Given the description of an element on the screen output the (x, y) to click on. 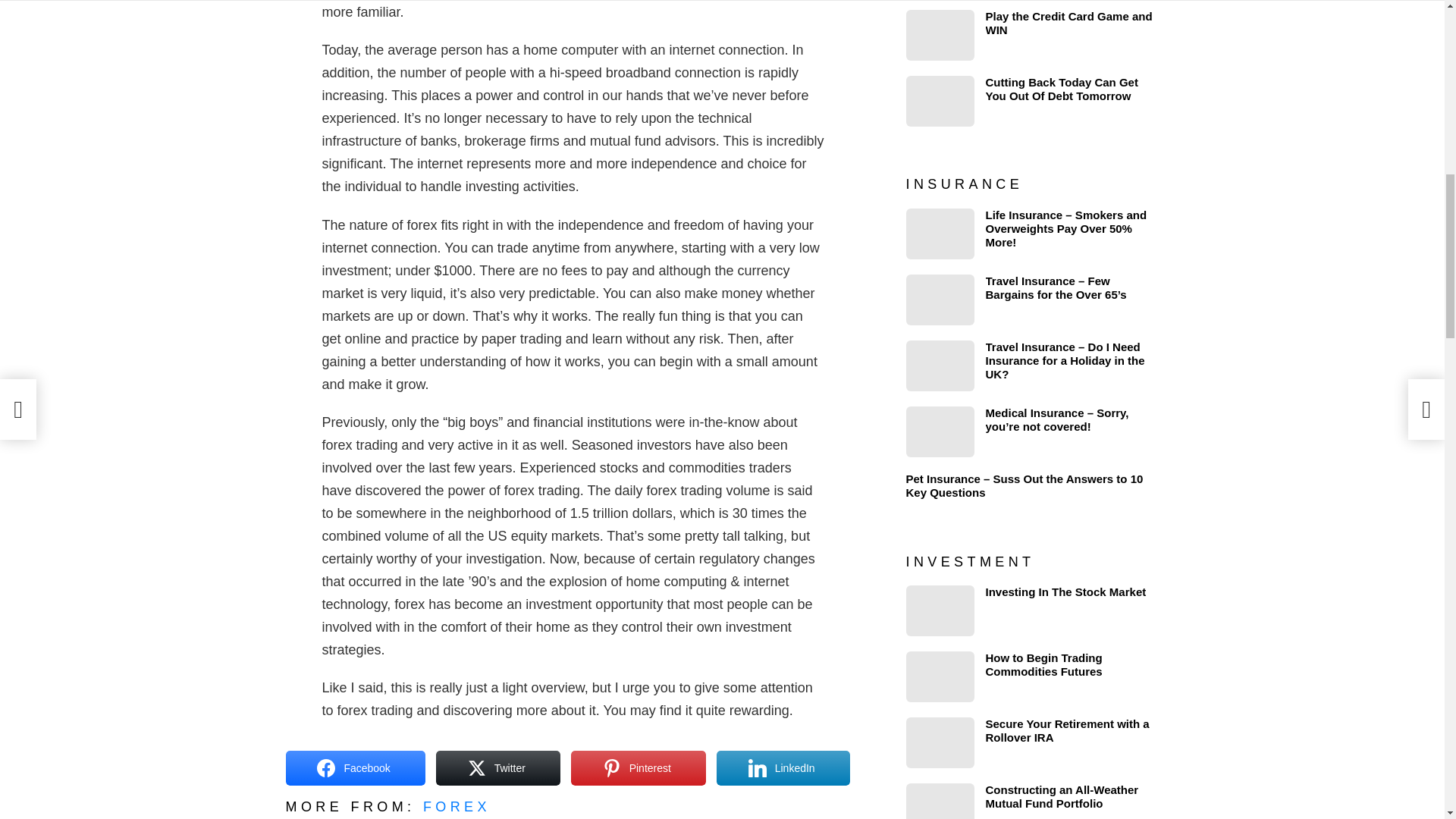
LinkedIn (783, 768)
Share on LinkedIn (783, 768)
Pinterest (638, 768)
Share on Twitter (497, 768)
Share on Pinterest (638, 768)
Facebook (355, 768)
FOREX (456, 806)
Twitter (497, 768)
Share on Facebook (355, 768)
